Given the description of an element on the screen output the (x, y) to click on. 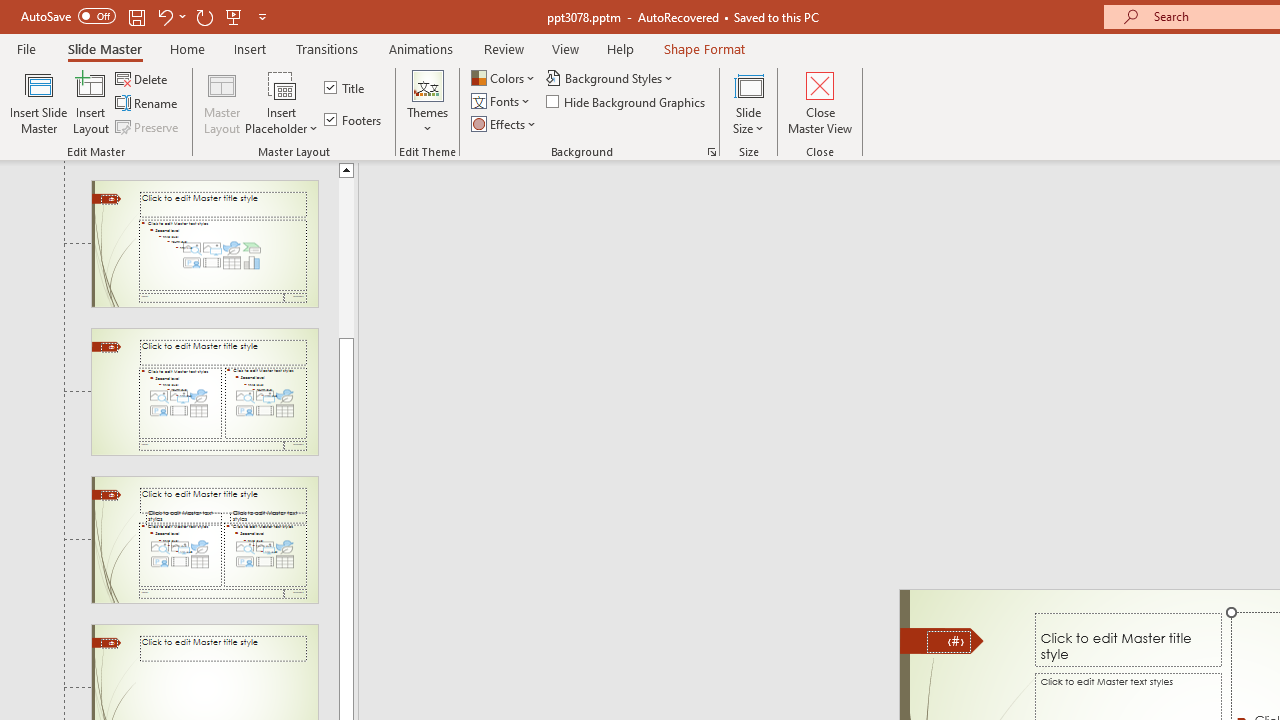
Rename (148, 103)
Preserve (148, 126)
Themes (427, 102)
View (565, 48)
File Tab (26, 48)
Title TextBox (1128, 639)
Undo (164, 15)
System (10, 11)
Quick Access Toolbar (145, 16)
Slide Master (104, 48)
Slide Number (948, 641)
Insert Slide Master (38, 102)
Review (503, 48)
Save (136, 15)
Close Master View (820, 102)
